Given the description of an element on the screen output the (x, y) to click on. 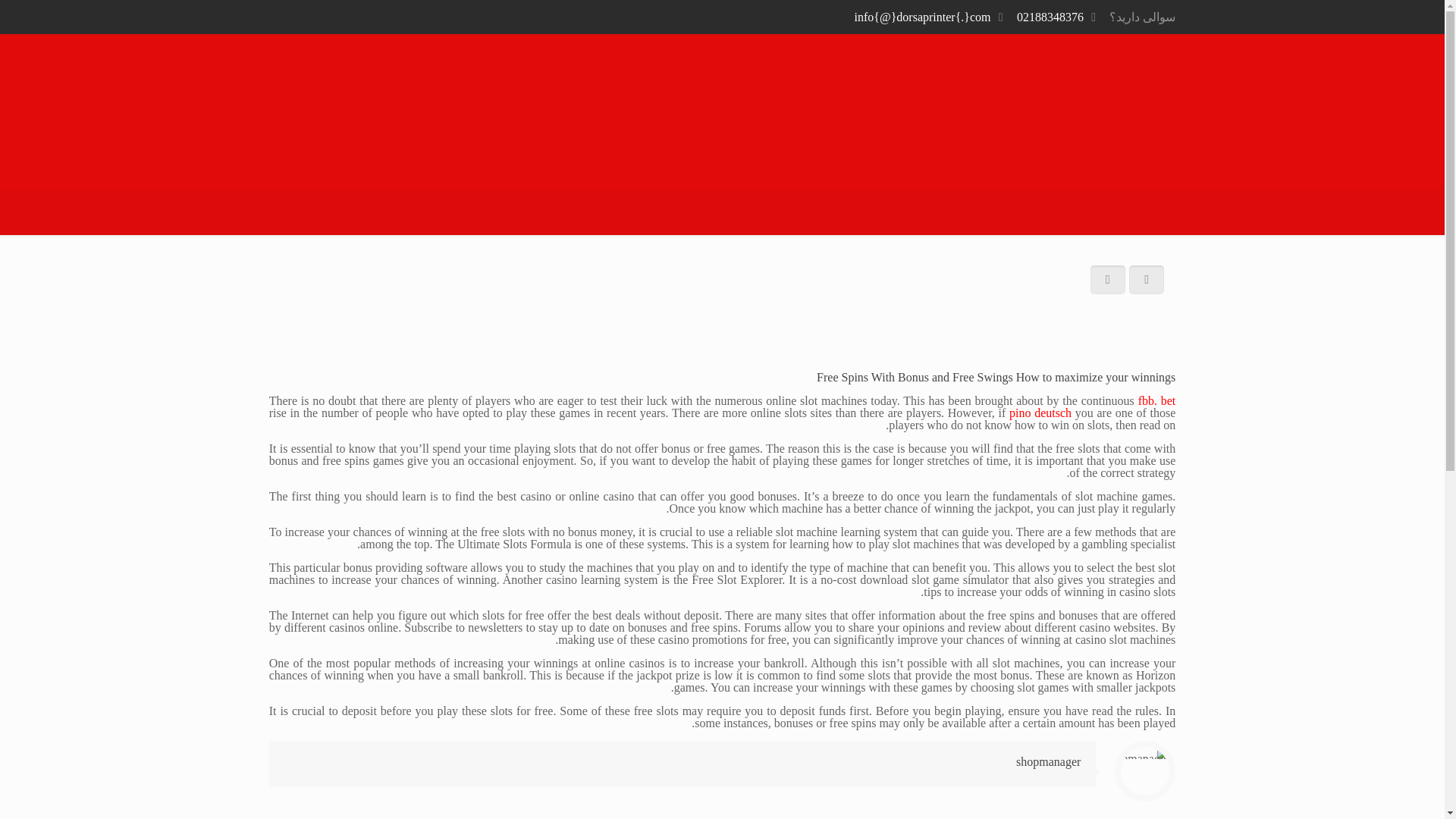
fbb. bet (1157, 400)
02188348376 (1049, 16)
pino deutsch (1040, 412)
shopmanager (1048, 761)
